Given the description of an element on the screen output the (x, y) to click on. 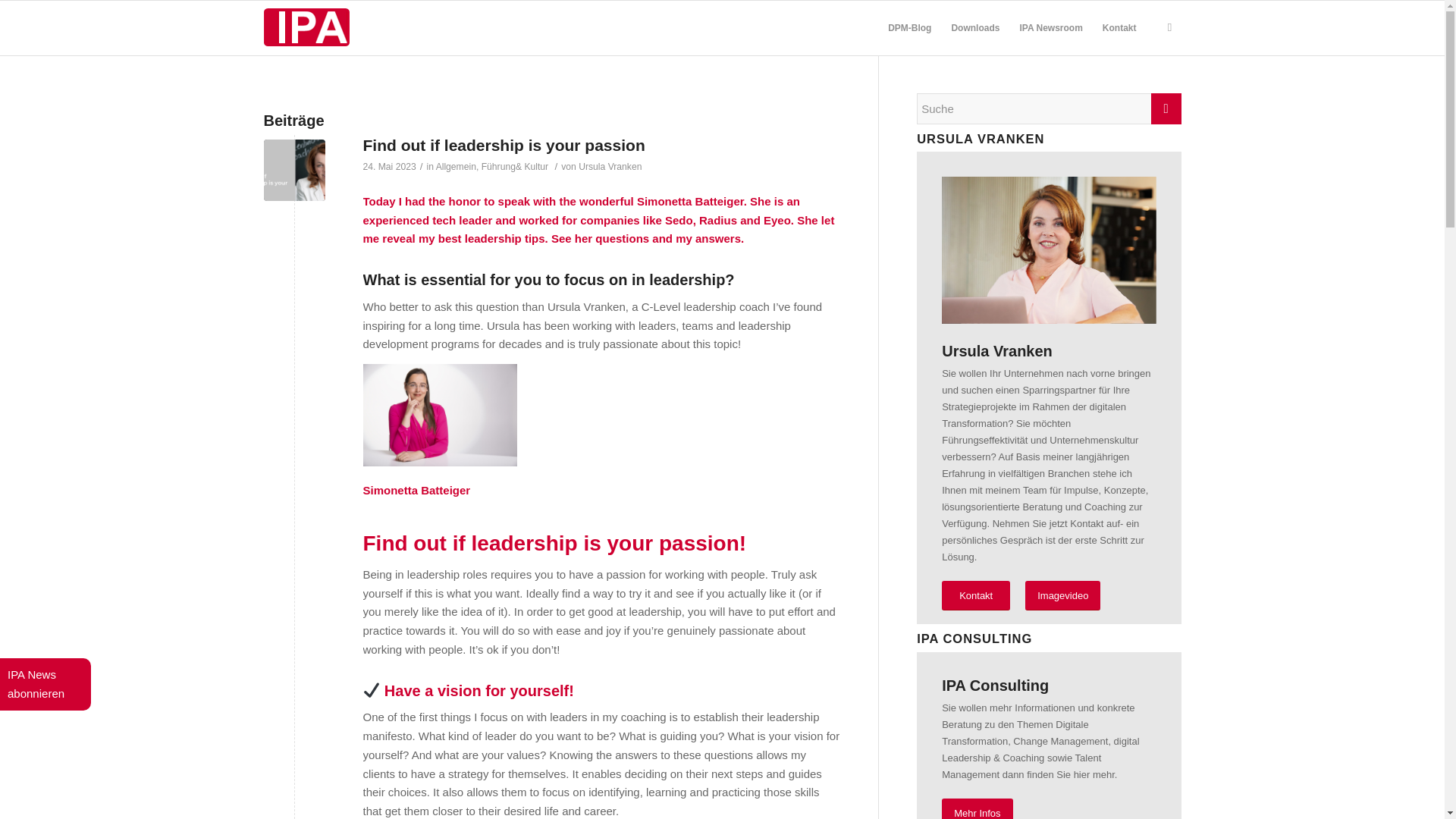
Imagevideo (1062, 595)
Allgemein (455, 166)
Kontakt (1120, 27)
Mehr Infos (976, 808)
Passion for Leadership (293, 169)
DPM-Blog (908, 27)
Permanenter Link zu: Find out if leadership is your passion (503, 144)
Simonetta Batteiger (690, 201)
Kontakt (976, 595)
Find out if leadership is your passion (503, 144)
Downloads (974, 27)
IPA Newsroom (1050, 27)
Ursula Vranken (610, 166)
Rss (1169, 26)
